Given the description of an element on the screen output the (x, y) to click on. 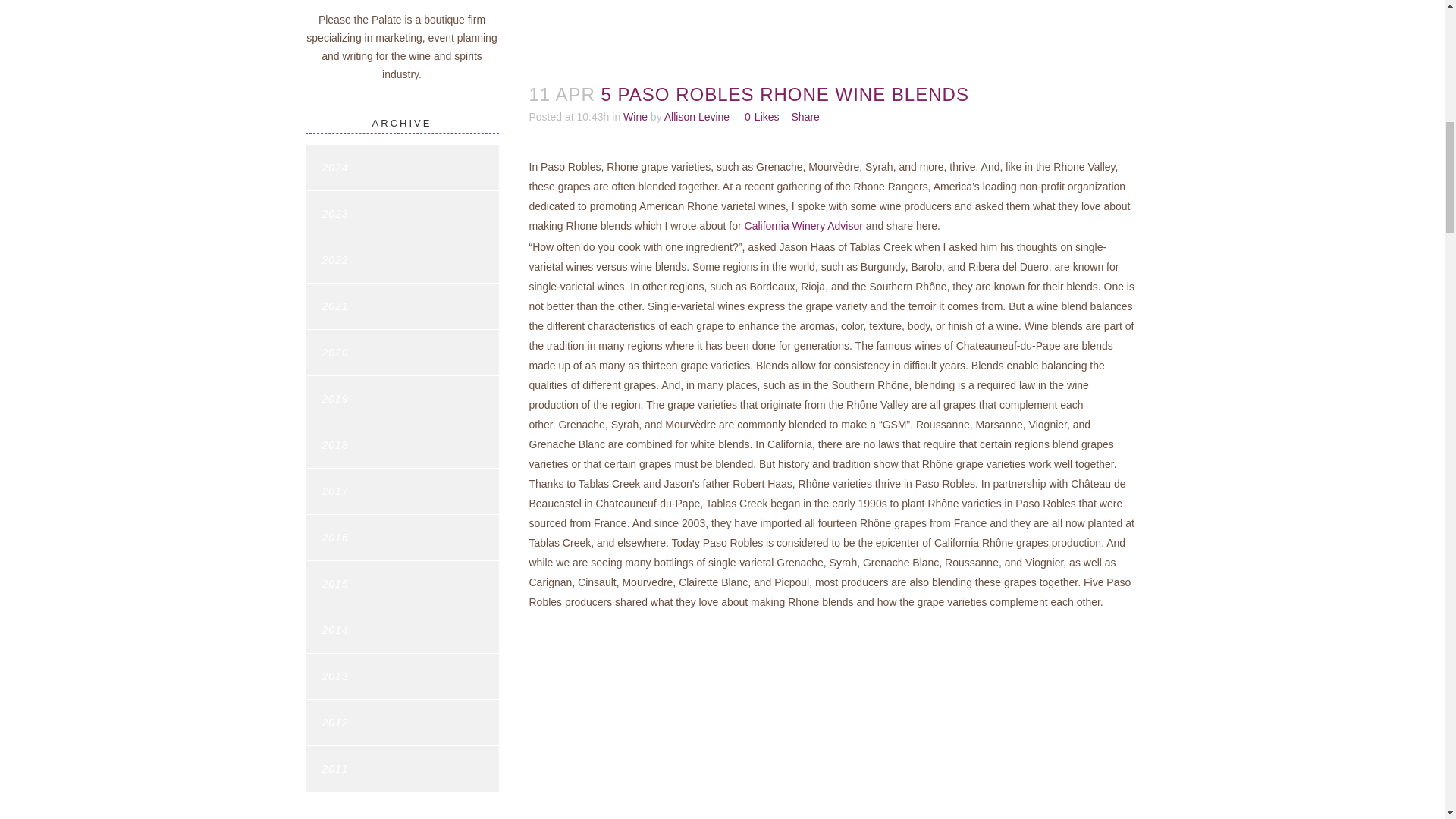
Like this (761, 116)
